Given the description of an element on the screen output the (x, y) to click on. 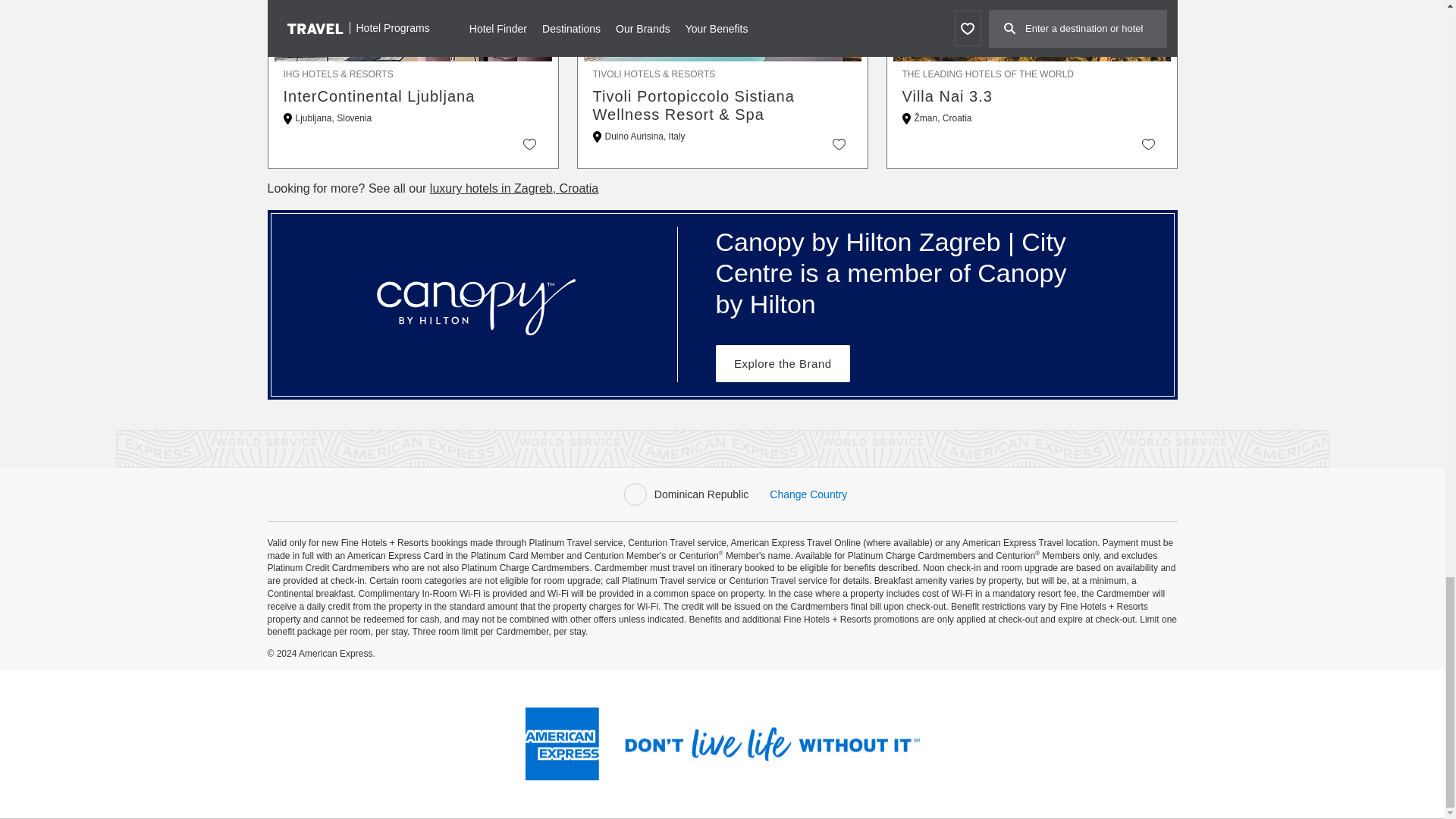
InterContinental Ljubljana (413, 95)
Villa Nai 3.3 (1031, 95)
luxury hotels in Zagreb, Croatia (513, 187)
Explore the Brand (783, 363)
Change Country (808, 494)
